Given the description of an element on the screen output the (x, y) to click on. 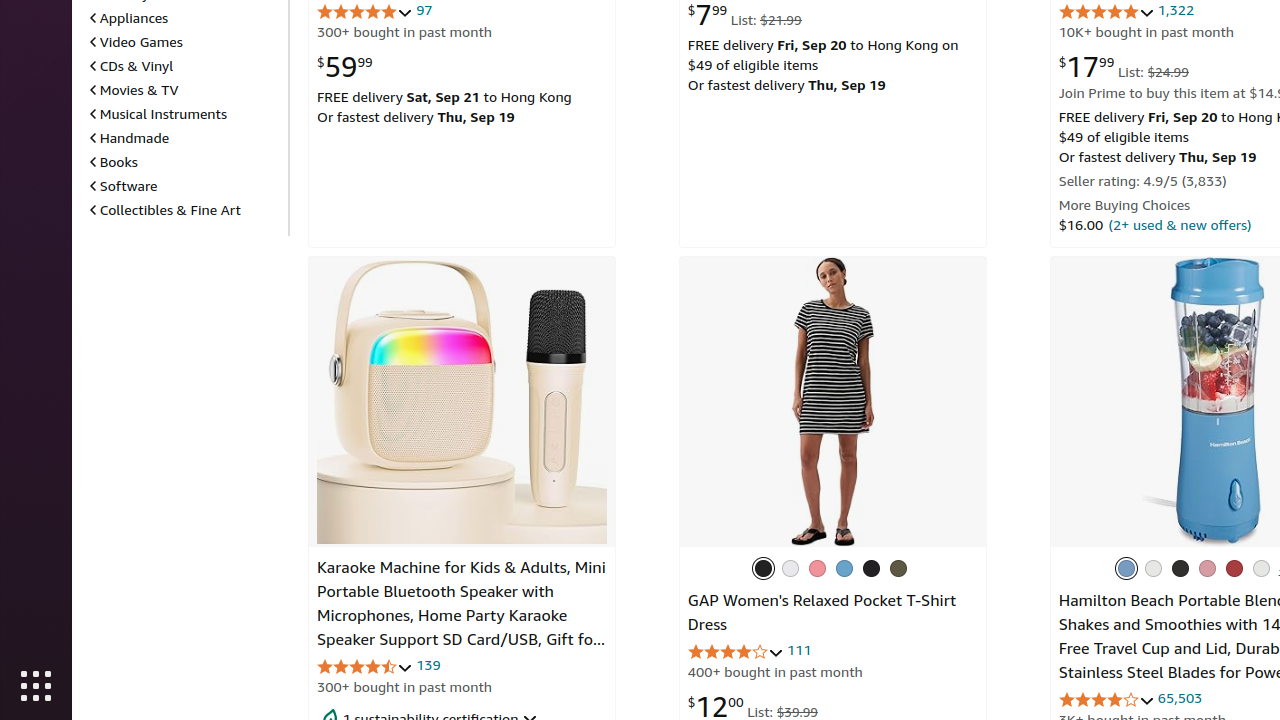
Black Stripe Element type: push-button (763, 568)
Software Element type: link (124, 185)
111 Element type: link (799, 650)
Collectibles & Fine Art Element type: link (165, 209)
139 Element type: link (428, 665)
